Given the description of an element on the screen output the (x, y) to click on. 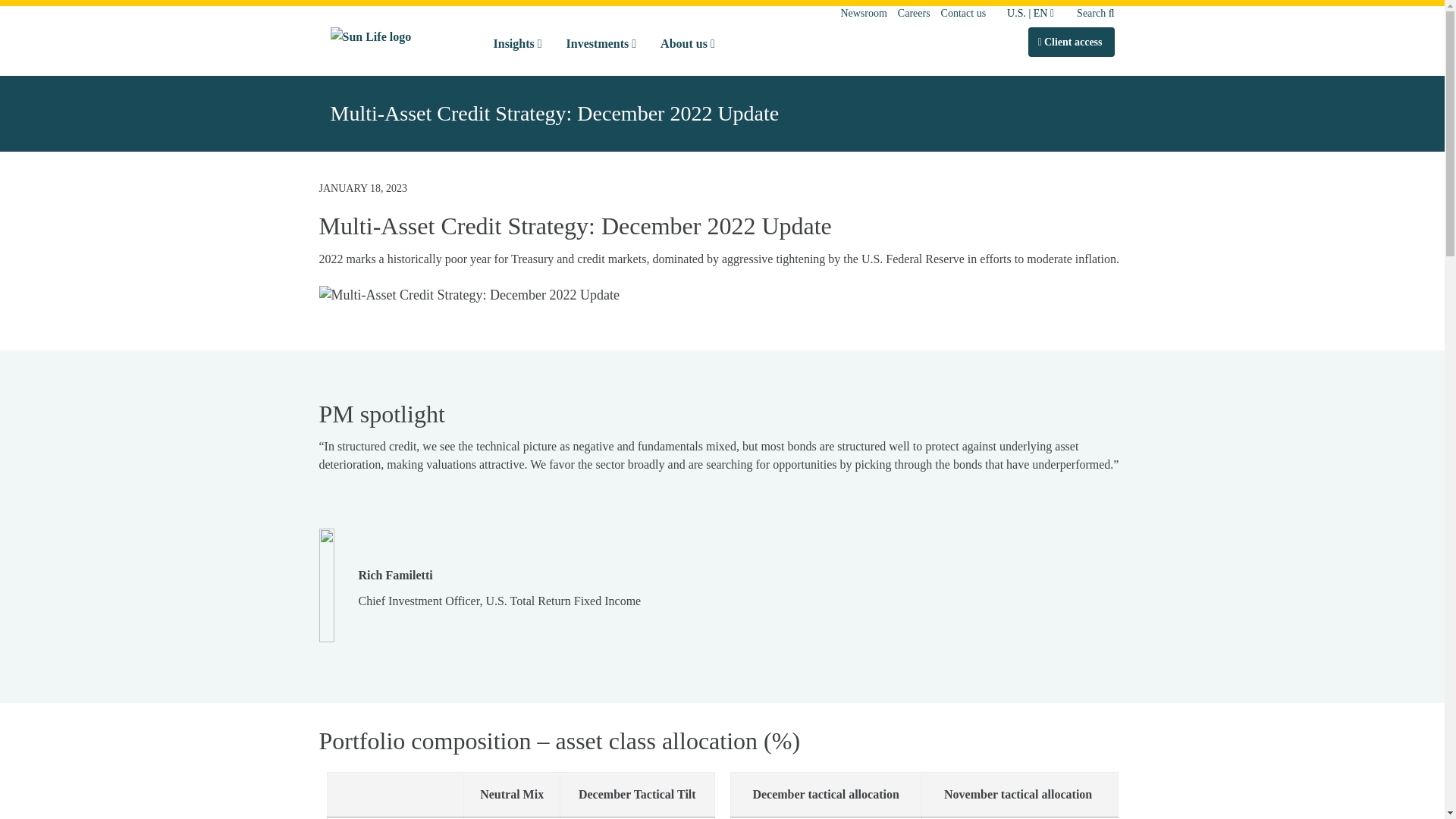
Insights (516, 44)
Newsroom (863, 12)
Investments (601, 44)
Contact us (963, 12)
About us (686, 44)
Careers (914, 12)
Search (1091, 12)
